Given the description of an element on the screen output the (x, y) to click on. 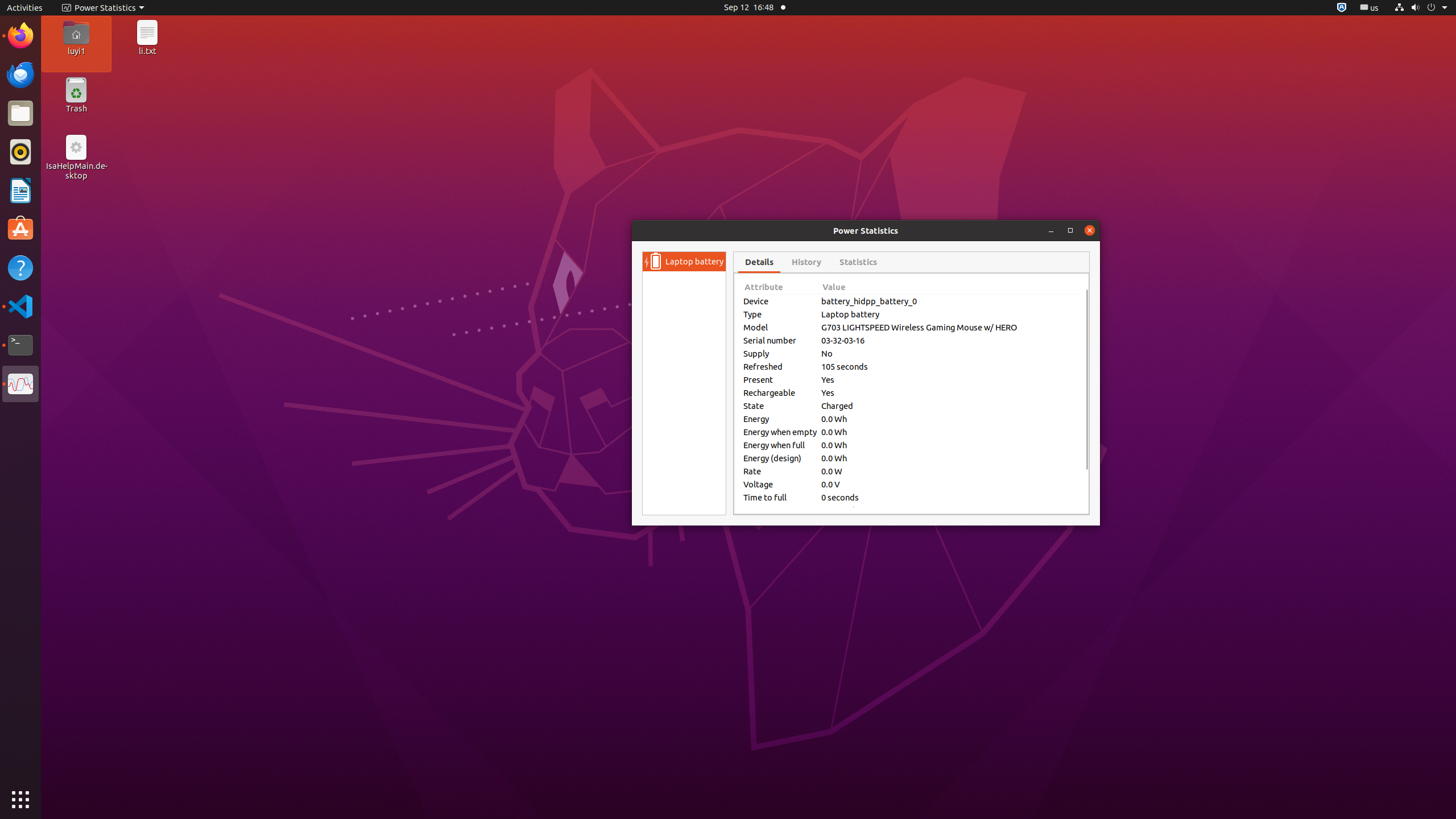
0.0 W Element type: table-cell (950, 471)
03-32-03-16 Element type: table-cell (950, 340)
0 seconds Element type: table-cell (950, 497)
